Given the description of an element on the screen output the (x, y) to click on. 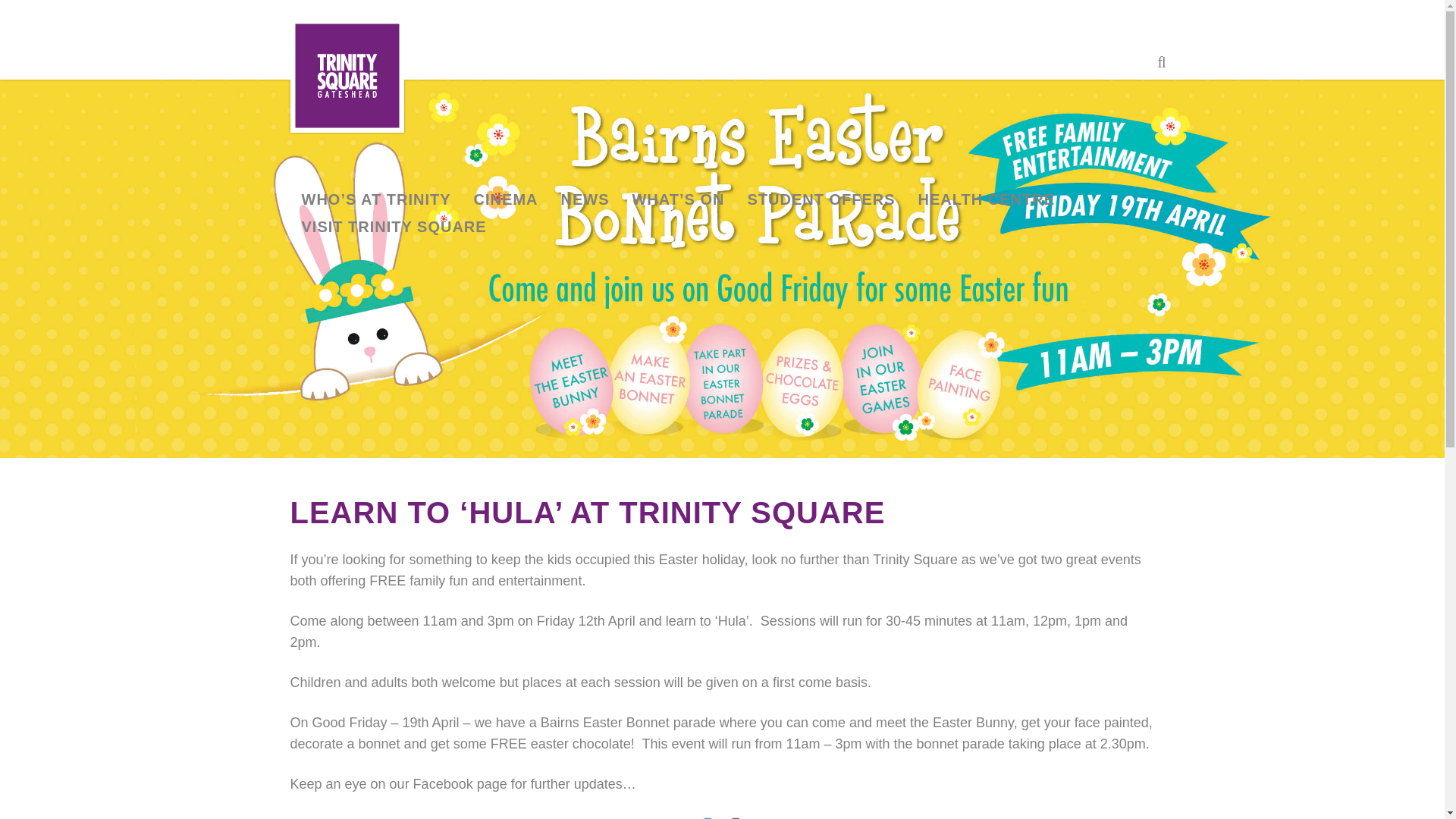
Cinema (506, 198)
CINEMA (506, 198)
HEALTH CENTRE (986, 198)
STUDENT OFFERS (820, 198)
NEWS (584, 198)
VISIT TRINITY SQUARE (393, 226)
Health Centre (986, 198)
Who's At Trinity (375, 198)
Student Offers (820, 198)
NEWS (584, 198)
